Given the description of an element on the screen output the (x, y) to click on. 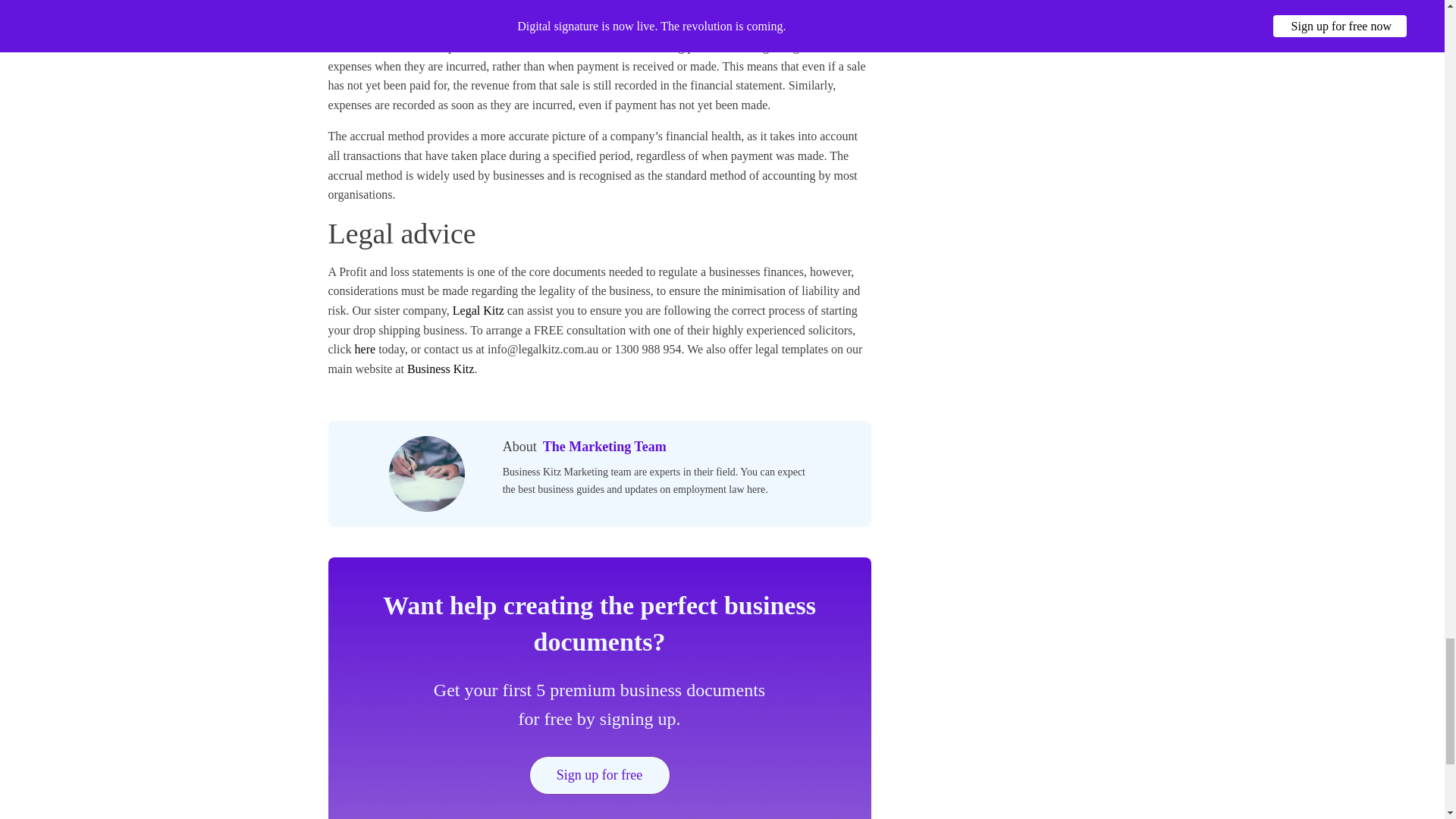
Sign up for free (599, 774)
accrual method (386, 46)
Legal Kitz (477, 309)
Business Kitz (440, 368)
 here (363, 349)
